Given the description of an element on the screen output the (x, y) to click on. 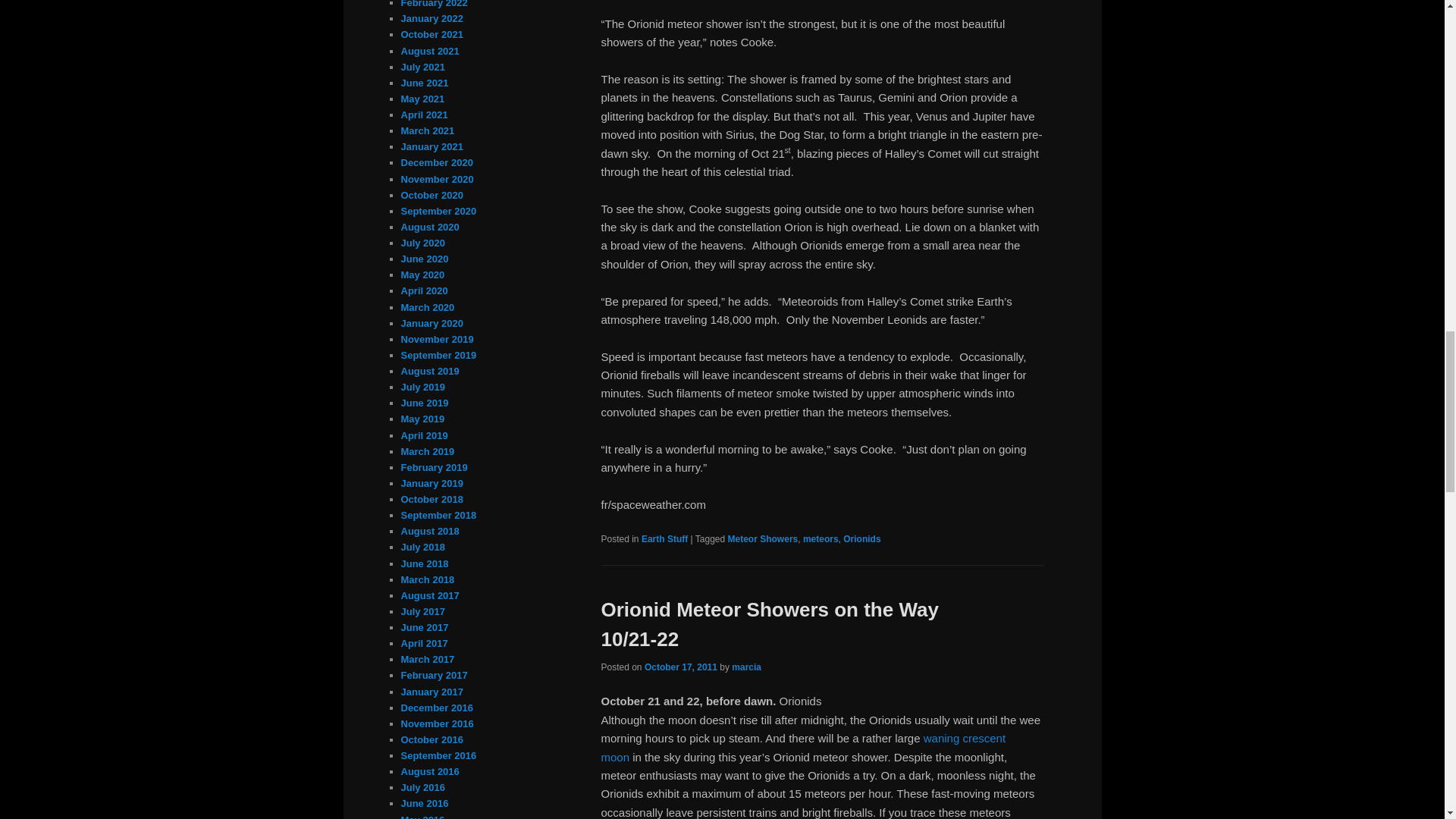
View all posts by marcia (746, 666)
meteors (820, 538)
waning crescent moon (802, 747)
9:42 am (681, 666)
marcia (746, 666)
Earth Stuff (664, 538)
October 17, 2011 (681, 666)
Orionids (861, 538)
Meteor Showers (762, 538)
